Given the description of an element on the screen output the (x, y) to click on. 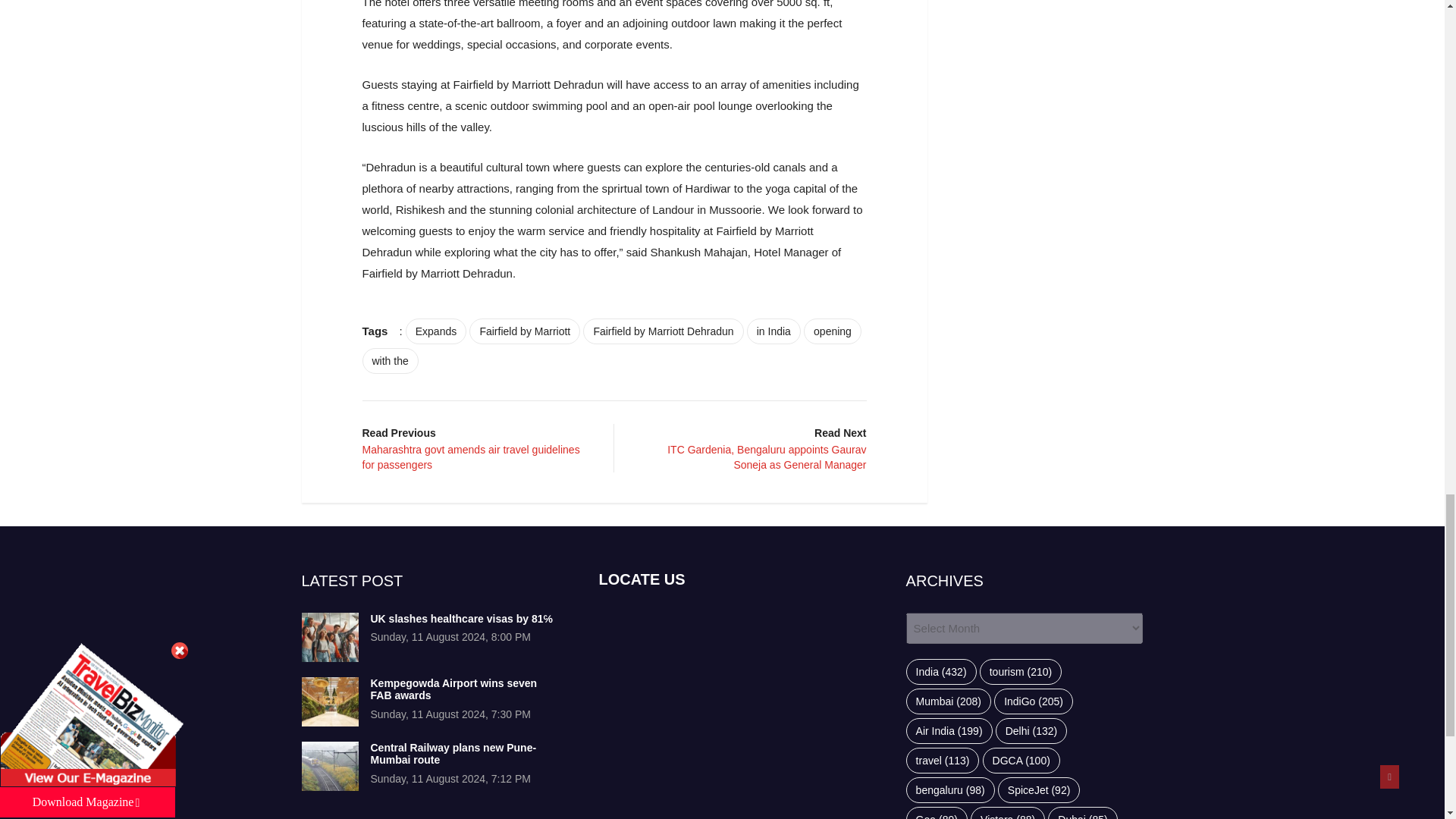
Central Railway plans new Pune-Mumbai route (452, 754)
Kempegowda Airport wins seven FAB awards (453, 689)
Central Railway plans new Pune-Mumbai route (329, 766)
Kempegowda Airport wins seven FAB awards (329, 701)
